Given the description of an element on the screen output the (x, y) to click on. 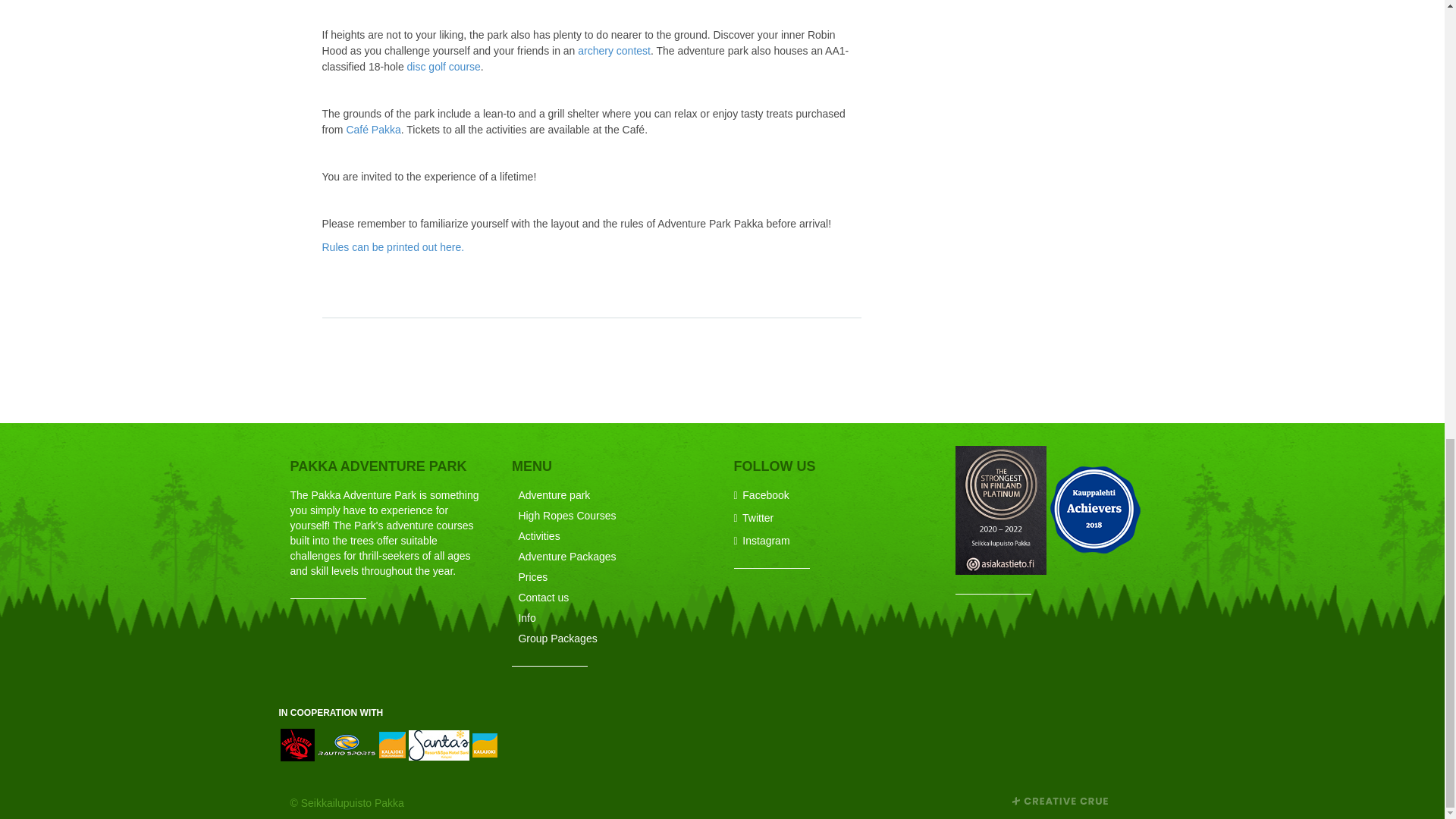
Mainostoimisto Creative Crue (1058, 799)
